Given the description of an element on the screen output the (x, y) to click on. 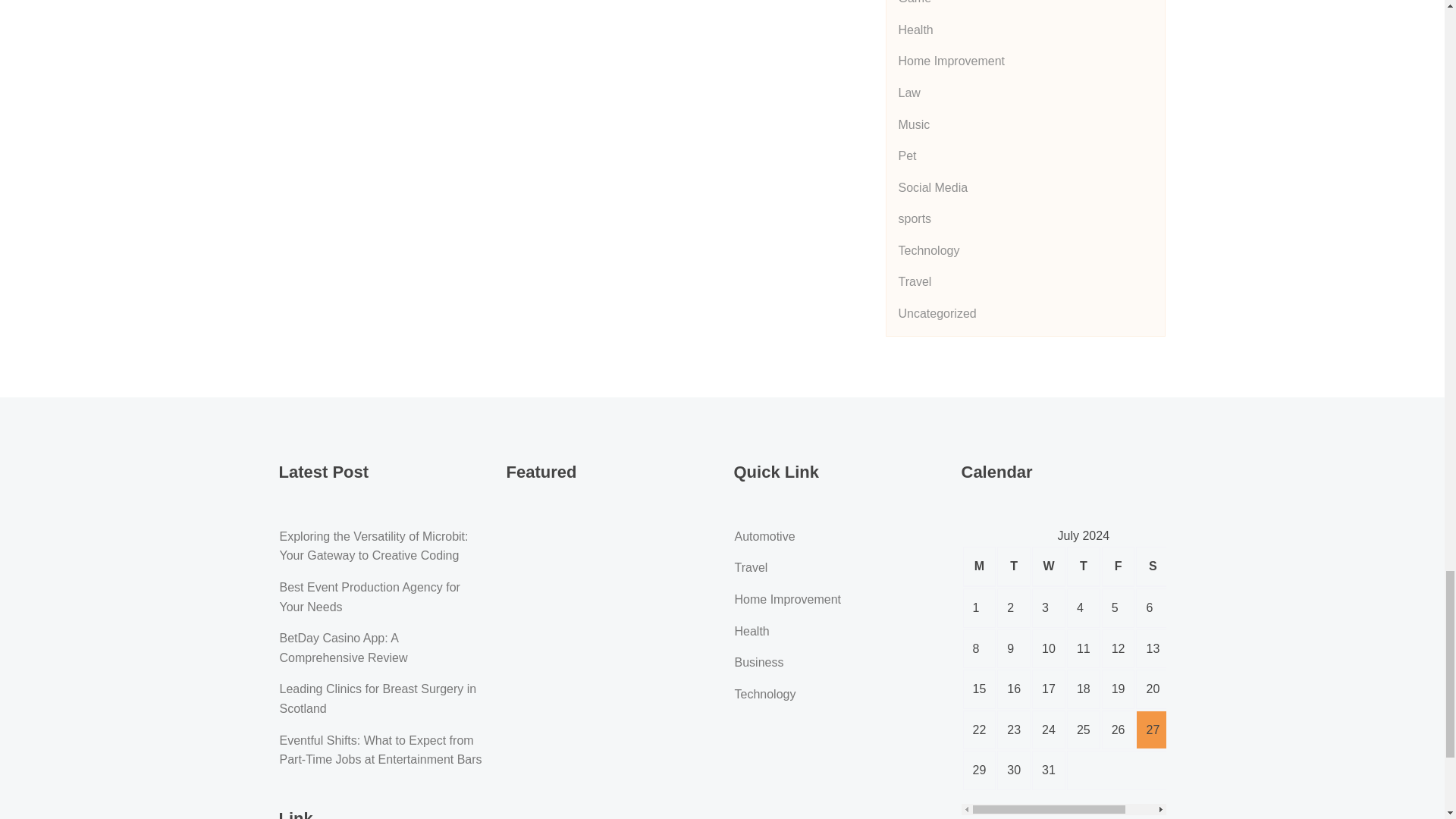
Tuesday (1013, 567)
Monday (978, 567)
Saturday (1152, 567)
Thursday (1083, 567)
Wednesday (1048, 567)
Friday (1118, 567)
Sunday (1187, 567)
